Given the description of an element on the screen output the (x, y) to click on. 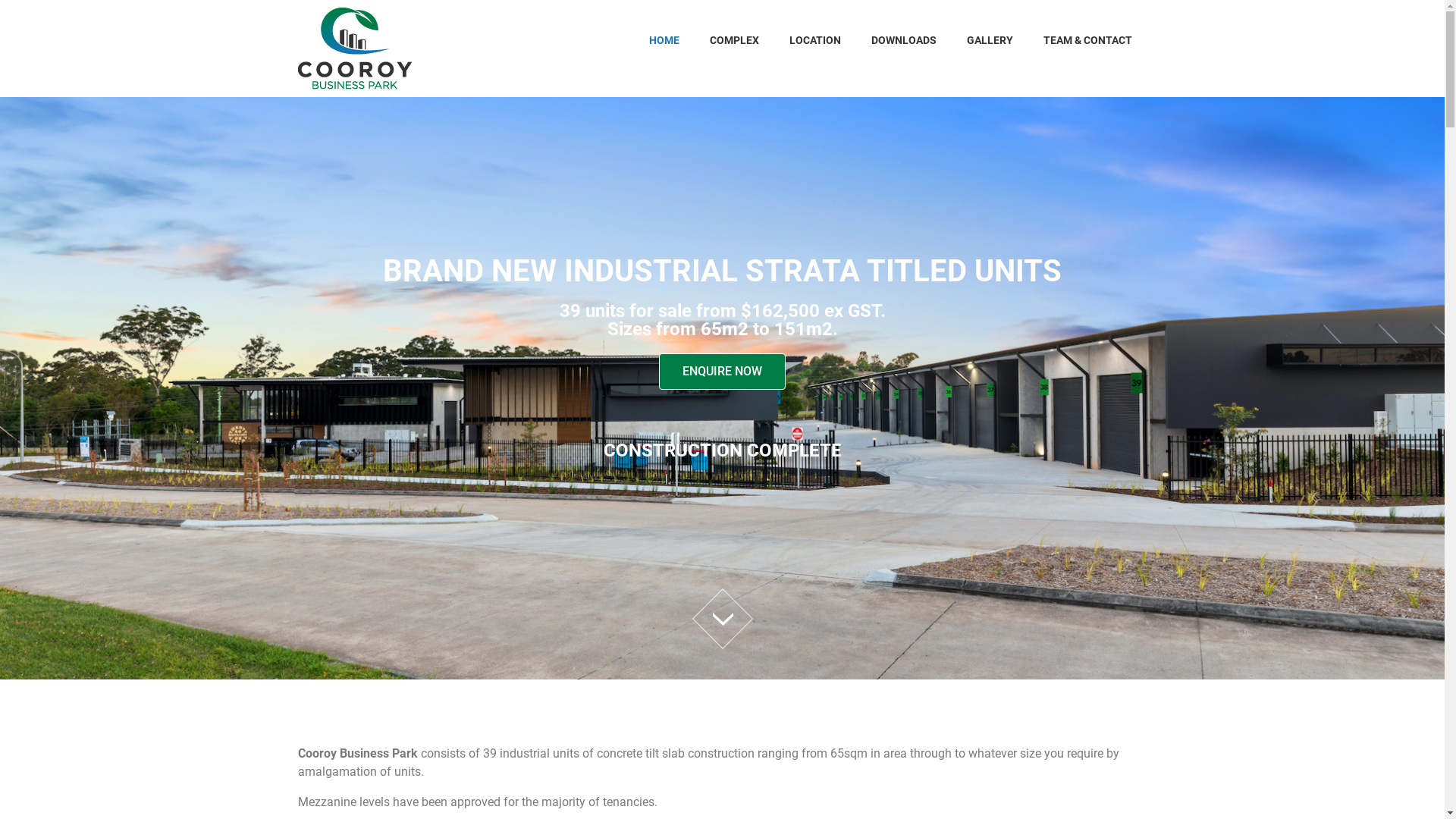
ENQUIRE NOW Element type: text (721, 371)
HOME Element type: text (663, 39)
COMPLEX Element type: text (734, 39)
GALLERY Element type: text (988, 39)
TEAM & CONTACT Element type: text (1087, 39)
DOWNLOADS Element type: text (902, 39)
LOCATION Element type: text (814, 39)
